Given the description of an element on the screen output the (x, y) to click on. 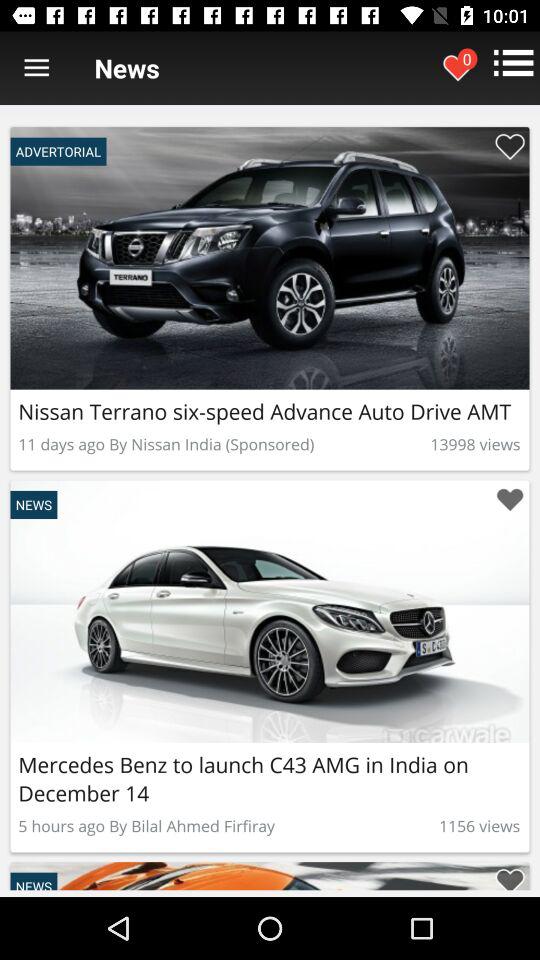
heart this car (509, 146)
